Given the description of an element on the screen output the (x, y) to click on. 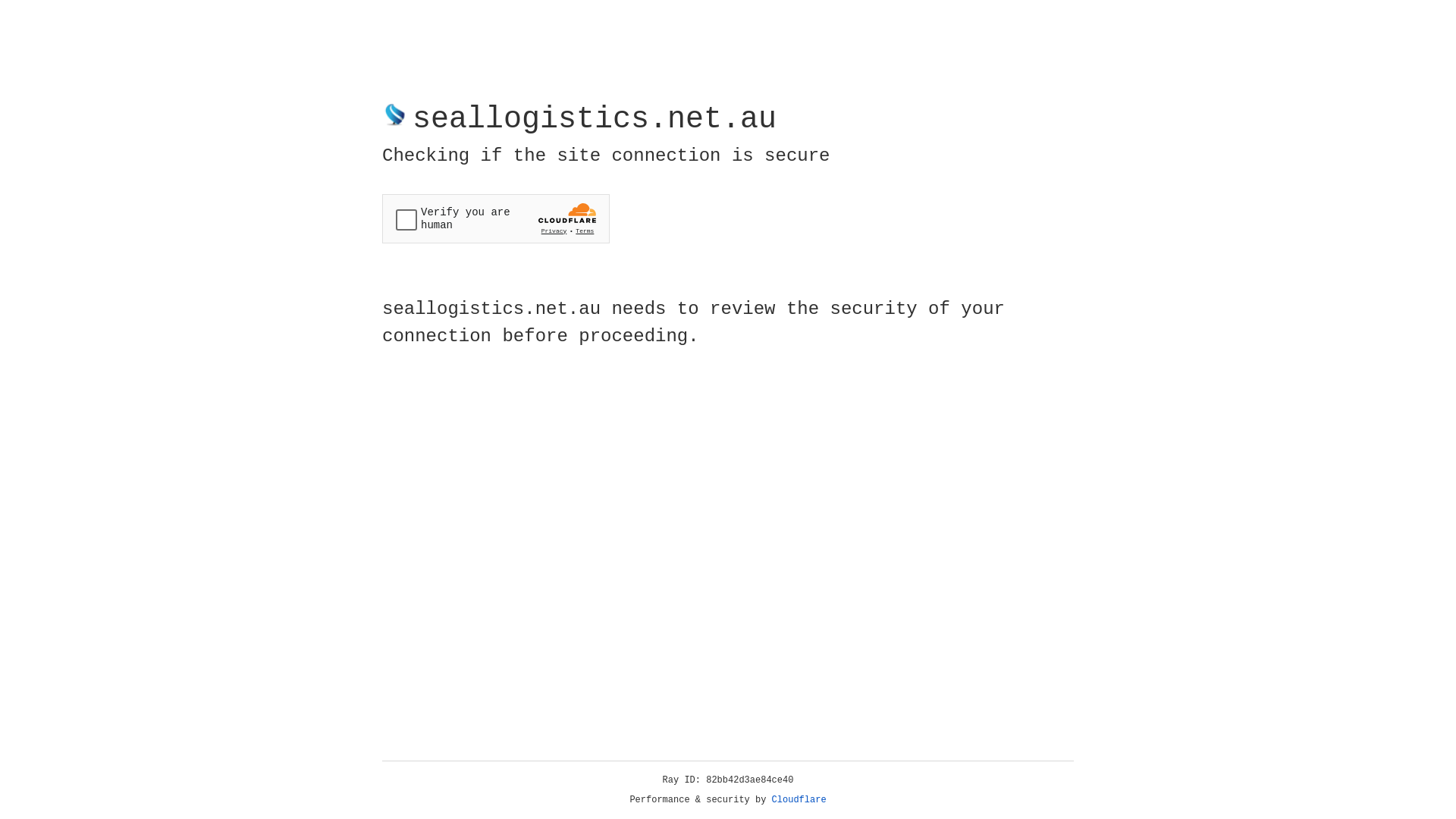
Widget containing a Cloudflare security challenge Element type: hover (495, 218)
Cloudflare Element type: text (798, 799)
